Given the description of an element on the screen output the (x, y) to click on. 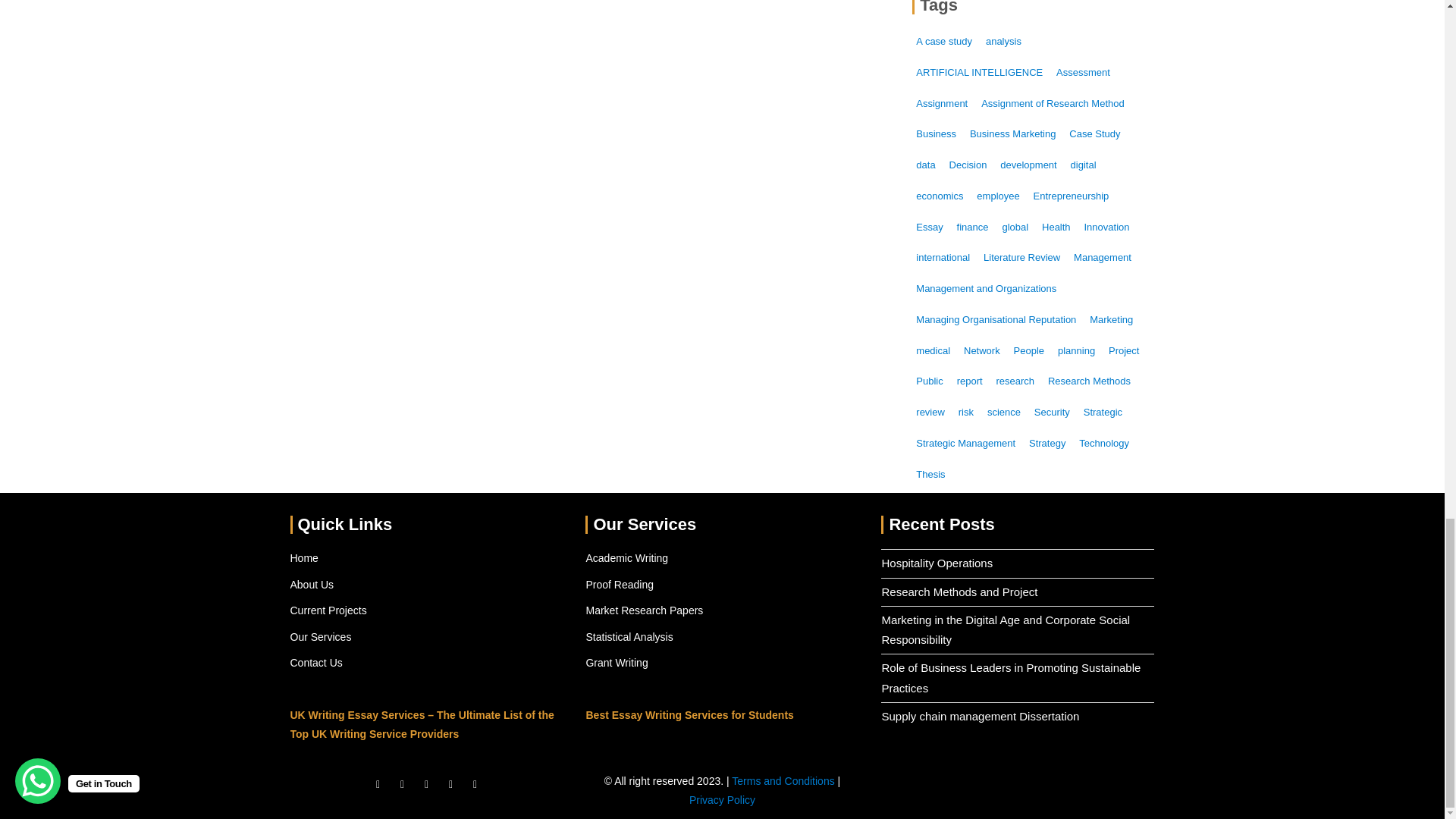
Instagram (425, 784)
Facebook (377, 784)
Twitter (401, 784)
Pinterest (450, 784)
Linkedin (474, 784)
